Given the description of an element on the screen output the (x, y) to click on. 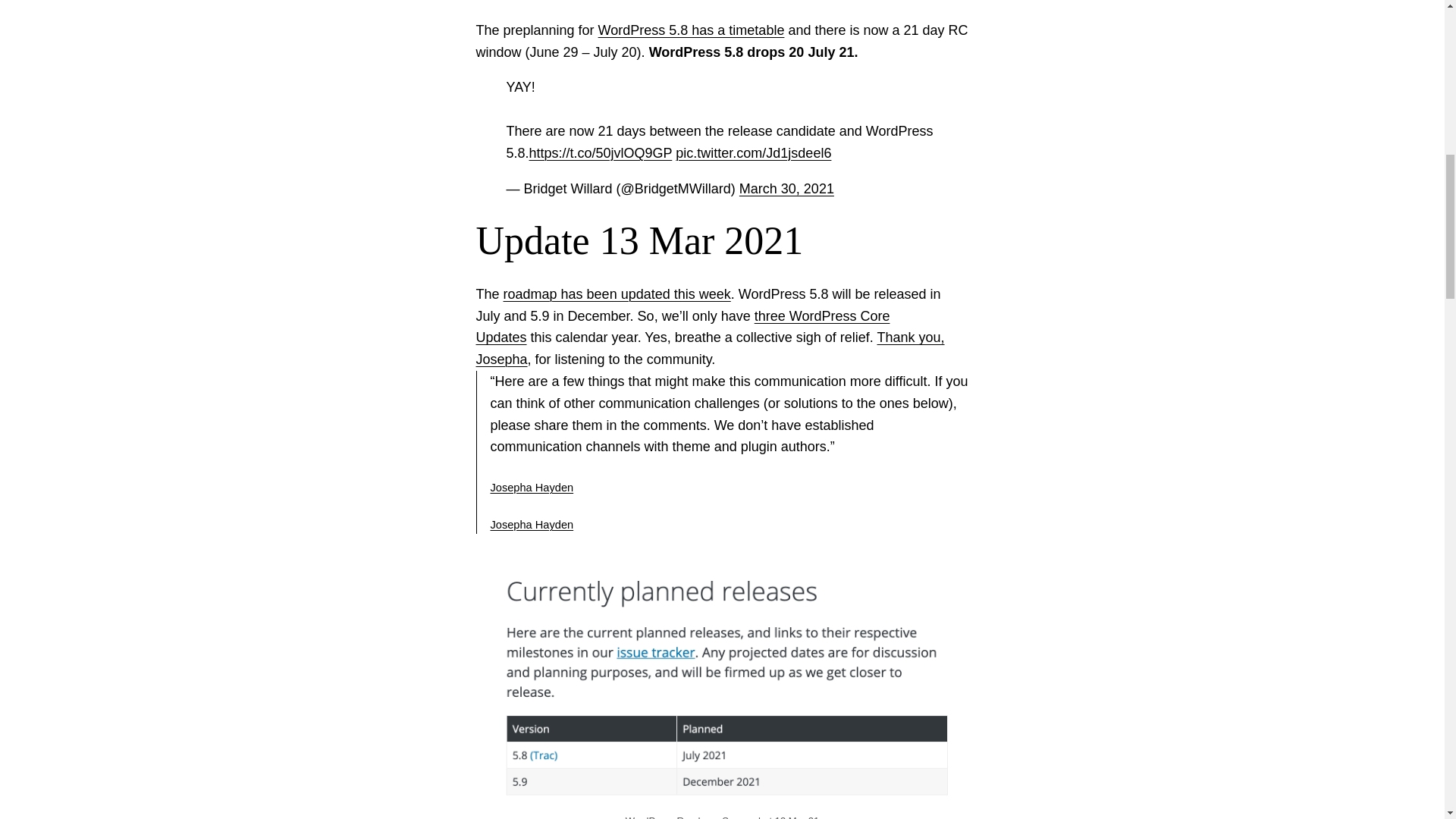
March 30, 2021 (786, 188)
Josepha Hayden (531, 524)
WordPress 5.8 has a timetable (691, 29)
roadmap has been updated this week (616, 294)
Josepha Hayden (531, 487)
three WordPress Core Updates (682, 326)
Thank you, Josepha (710, 348)
